Given the description of an element on the screen output the (x, y) to click on. 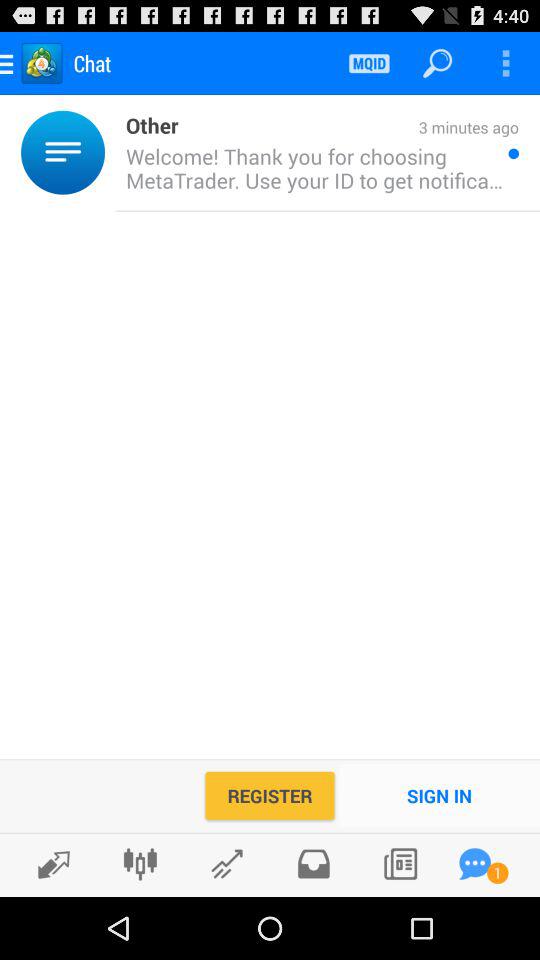
go to box (313, 863)
